Given the description of an element on the screen output the (x, y) to click on. 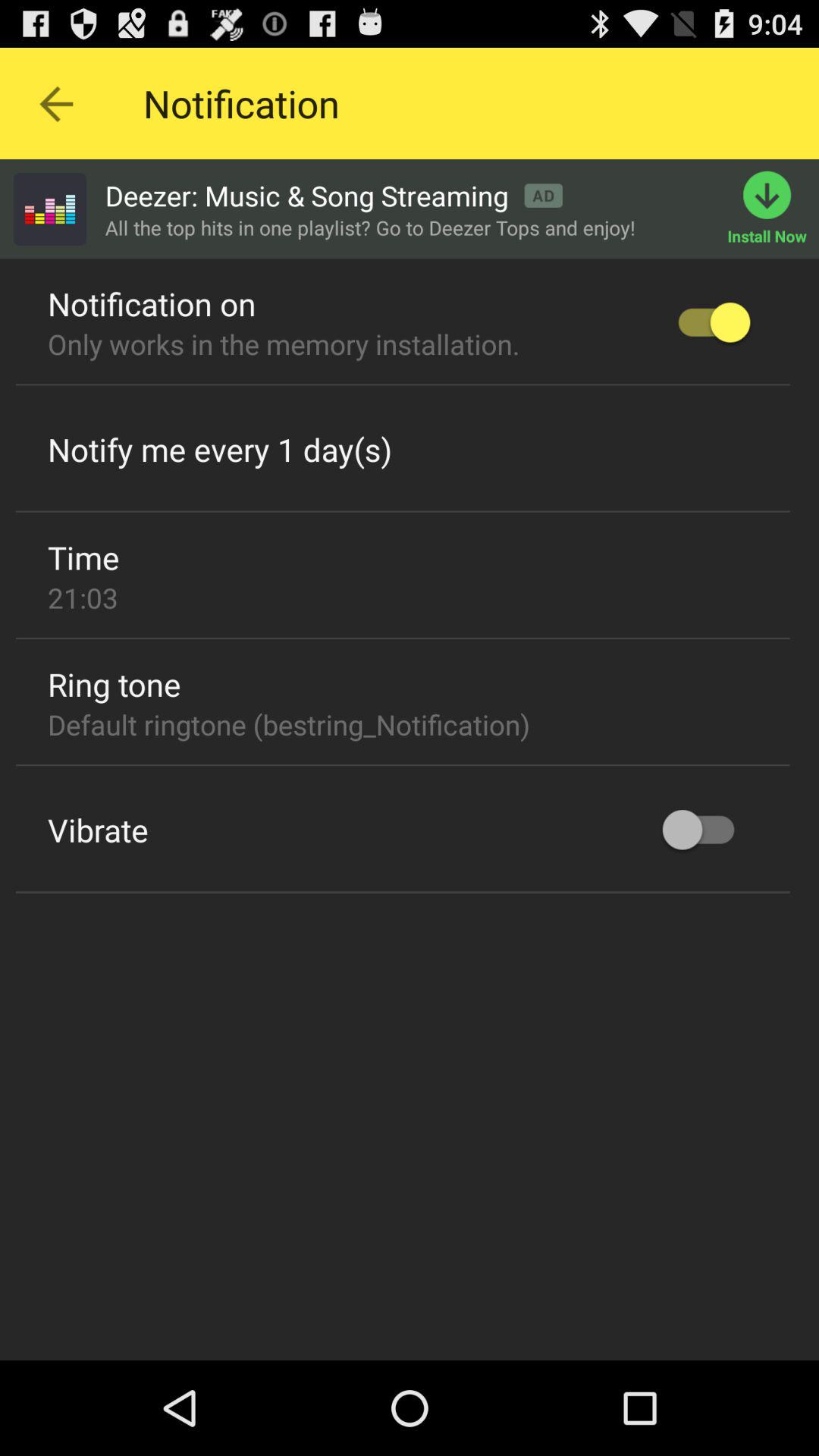
scroll to the deezer music song app (333, 195)
